Given the description of an element on the screen output the (x, y) to click on. 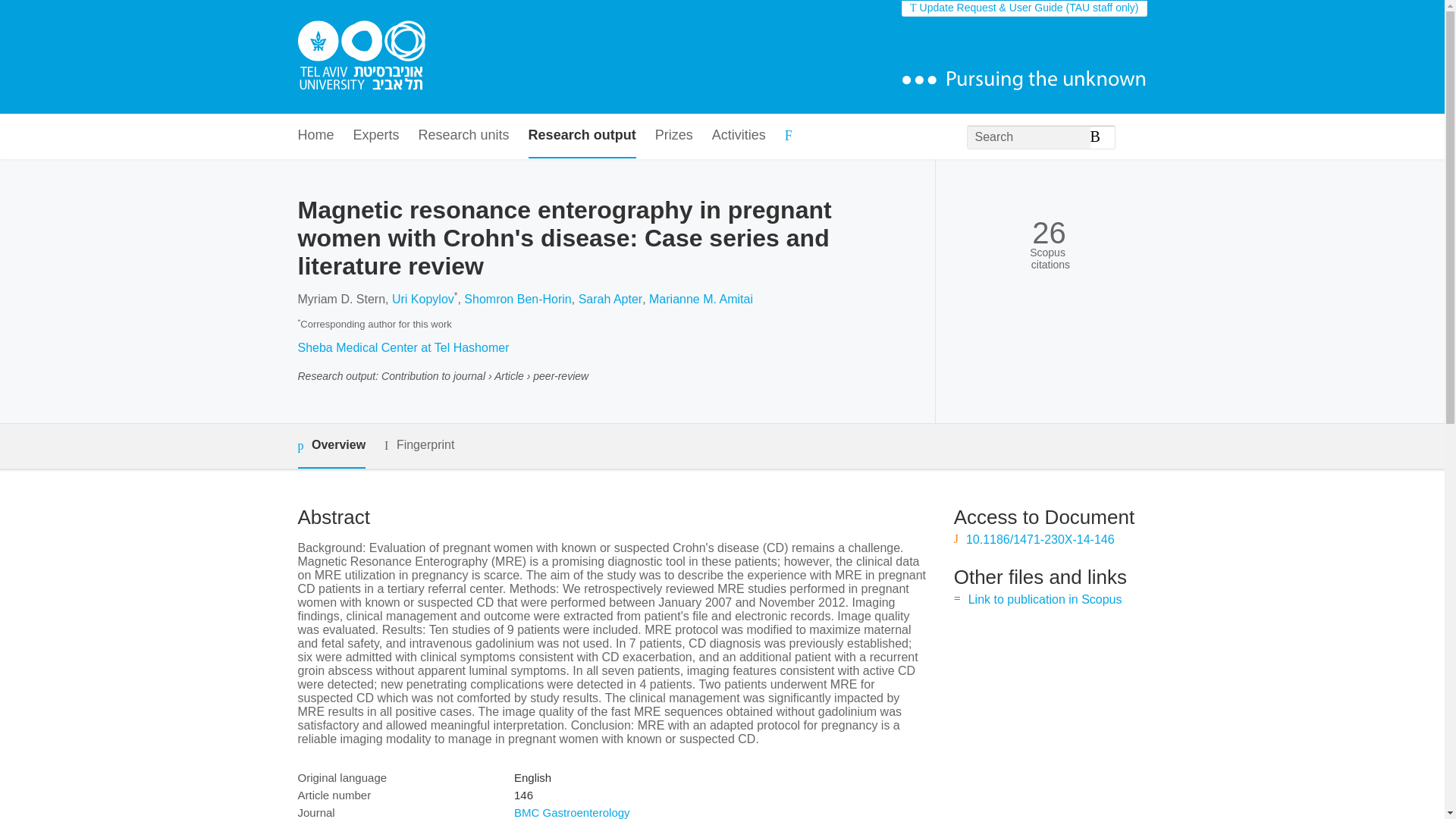
Sarah Apter (610, 298)
Tel Aviv University Home (361, 56)
Shomron Ben-Horin (517, 298)
Link to publication in Scopus (1045, 599)
BMC Gastroenterology (571, 812)
Sheba Medical Center at Tel Hashomer (402, 347)
Uri Kopylov (422, 298)
Research units (464, 135)
Experts (375, 135)
